Given the description of an element on the screen output the (x, y) to click on. 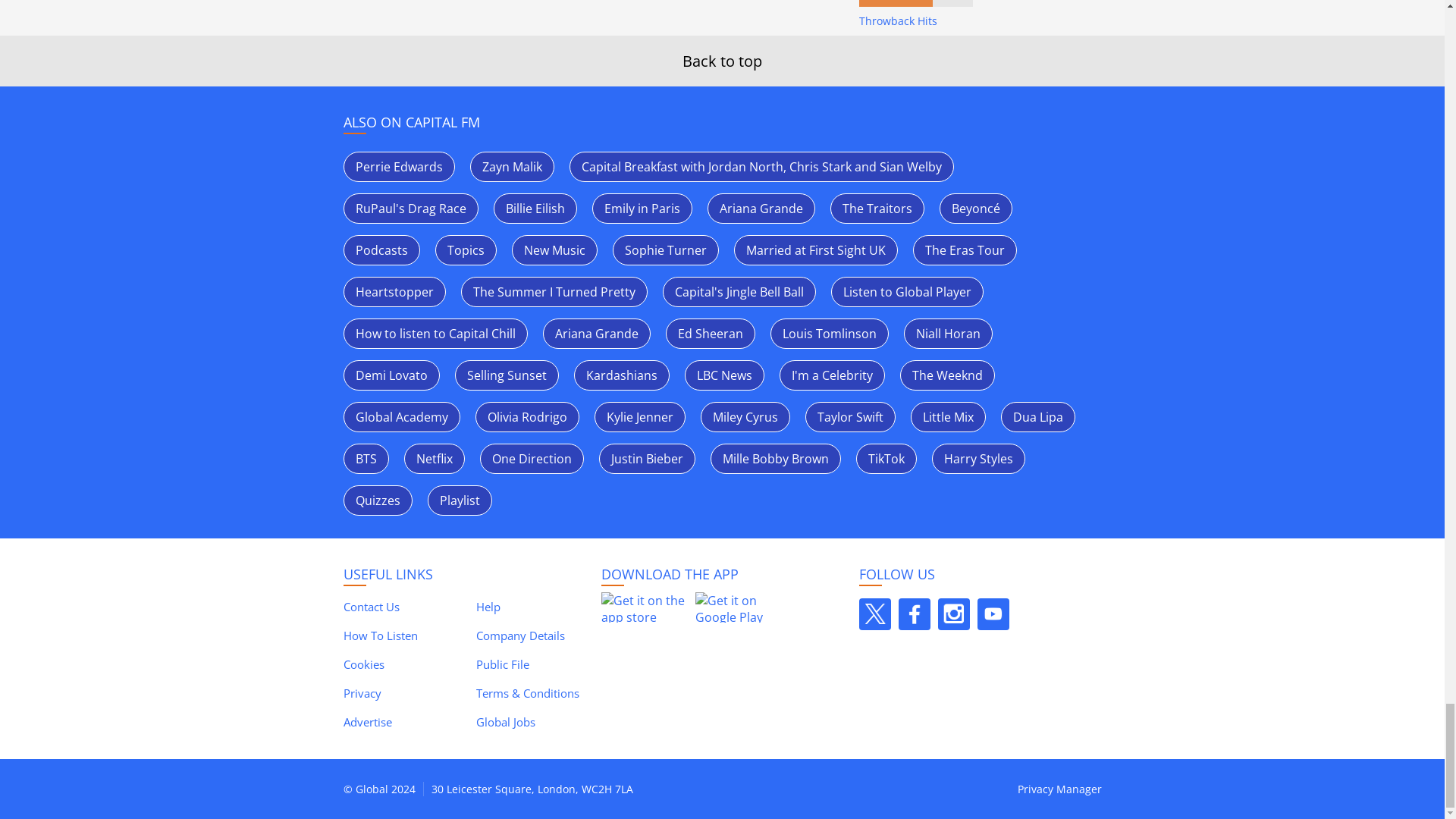
Follow Capital on Facebook (914, 613)
Follow Capital on Instagram (953, 613)
Follow Capital on X (874, 613)
Back to top (721, 60)
Follow Capital on Youtube (992, 613)
